Given the description of an element on the screen output the (x, y) to click on. 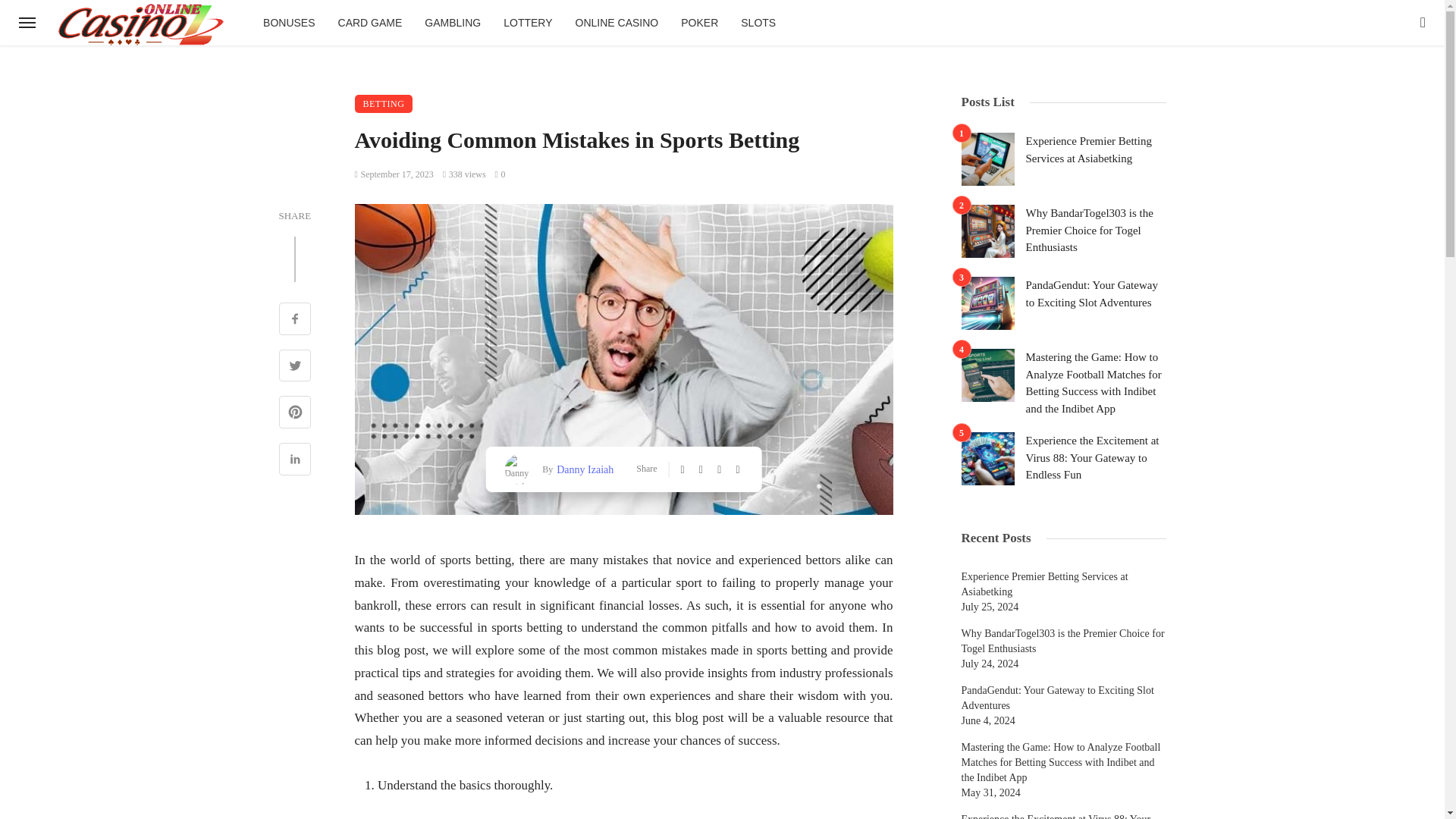
0 (500, 173)
0 Comments (500, 173)
LOTTERY (527, 22)
Share on Pinterest (295, 413)
GAMBLING (452, 22)
Share on Linkedin (295, 461)
Share on Facebook (295, 320)
BONUSES (288, 22)
POKER (699, 22)
SLOTS (758, 22)
CARD GAME (369, 22)
BETTING (384, 104)
ONLINE CASINO (616, 22)
September 17, 2023 at 7:50 am (394, 173)
Posts by Danny Izaiah (582, 468)
